Given the description of an element on the screen output the (x, y) to click on. 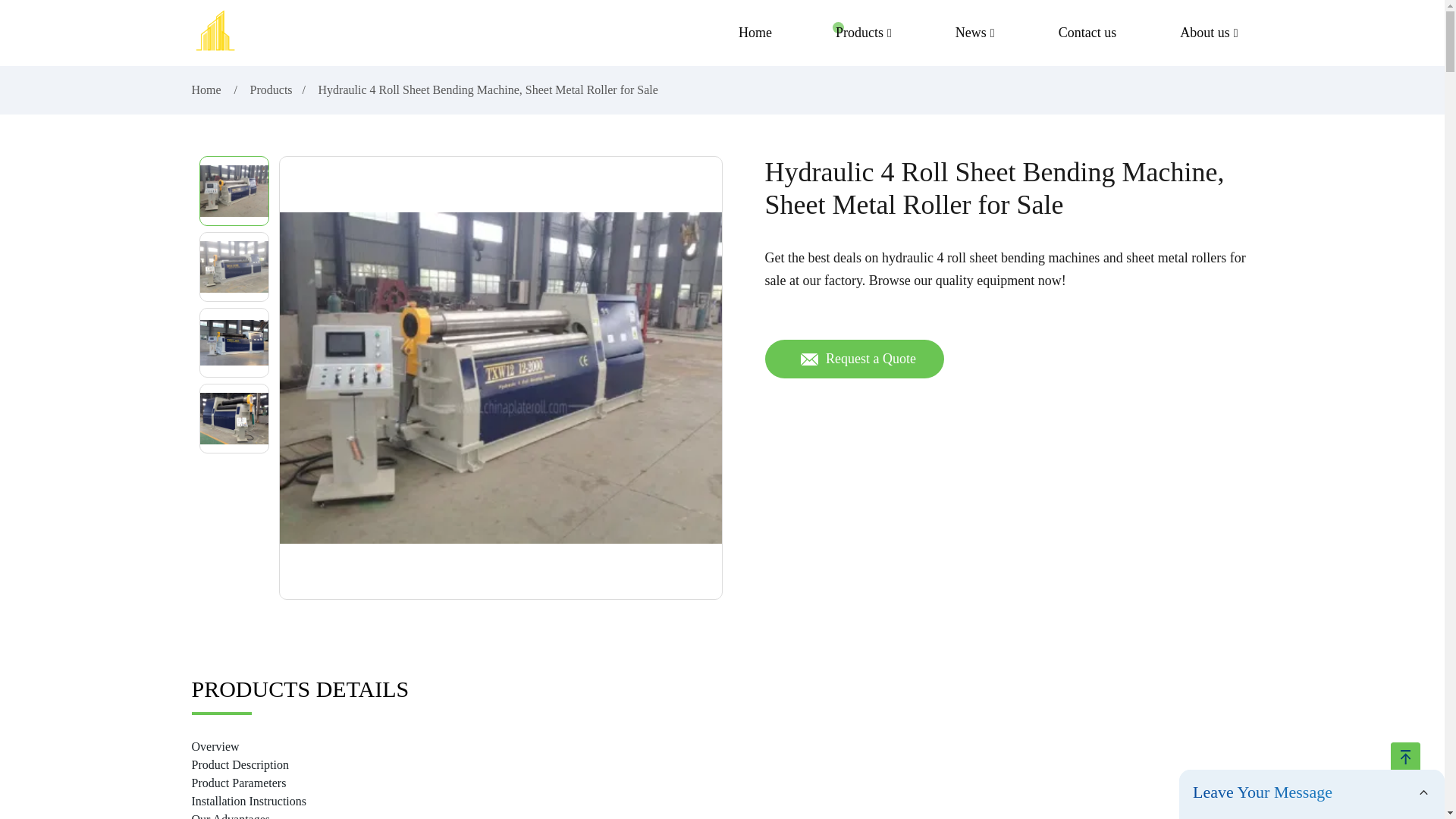
Home (755, 33)
About us (1208, 33)
Request a Quote (853, 358)
Products (864, 33)
News (975, 33)
Contact us (1087, 33)
Products (271, 89)
Home (207, 89)
